Given the description of an element on the screen output the (x, y) to click on. 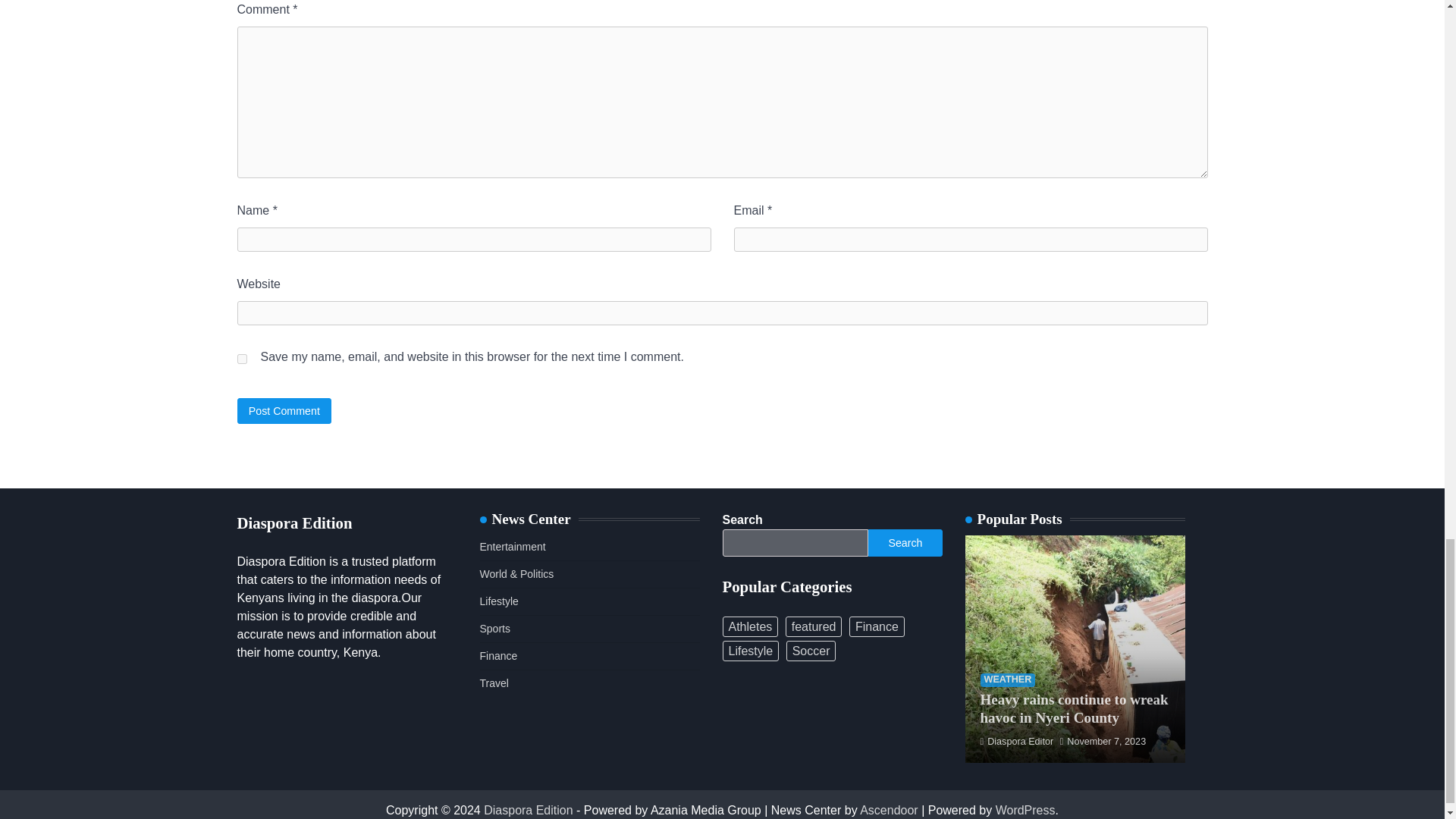
Sports (494, 628)
Athletes (749, 626)
Lifestyle (750, 650)
Lifestyle (498, 601)
yes (240, 358)
Post Comment (283, 410)
Finance (497, 655)
featured (814, 626)
Post Comment (283, 410)
Finance (876, 626)
